Given the description of an element on the screen output the (x, y) to click on. 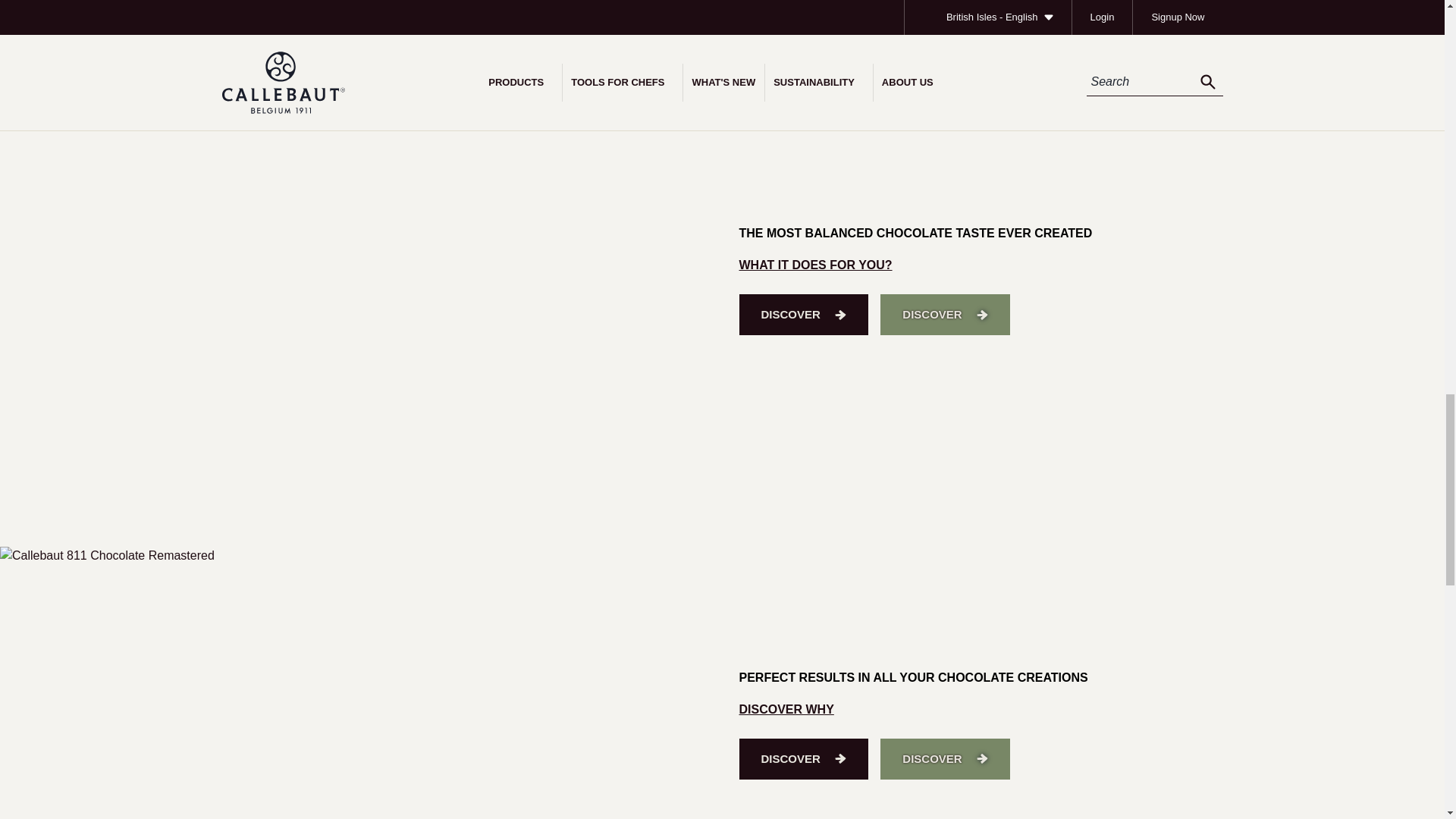
DISCOVER (802, 758)
WHAT IT DOES FOR YOU? (814, 264)
DISCOVER (945, 314)
DISCOVER (802, 314)
DISCOVER WHY (785, 708)
DISCOVER (945, 758)
